Given the description of an element on the screen output the (x, y) to click on. 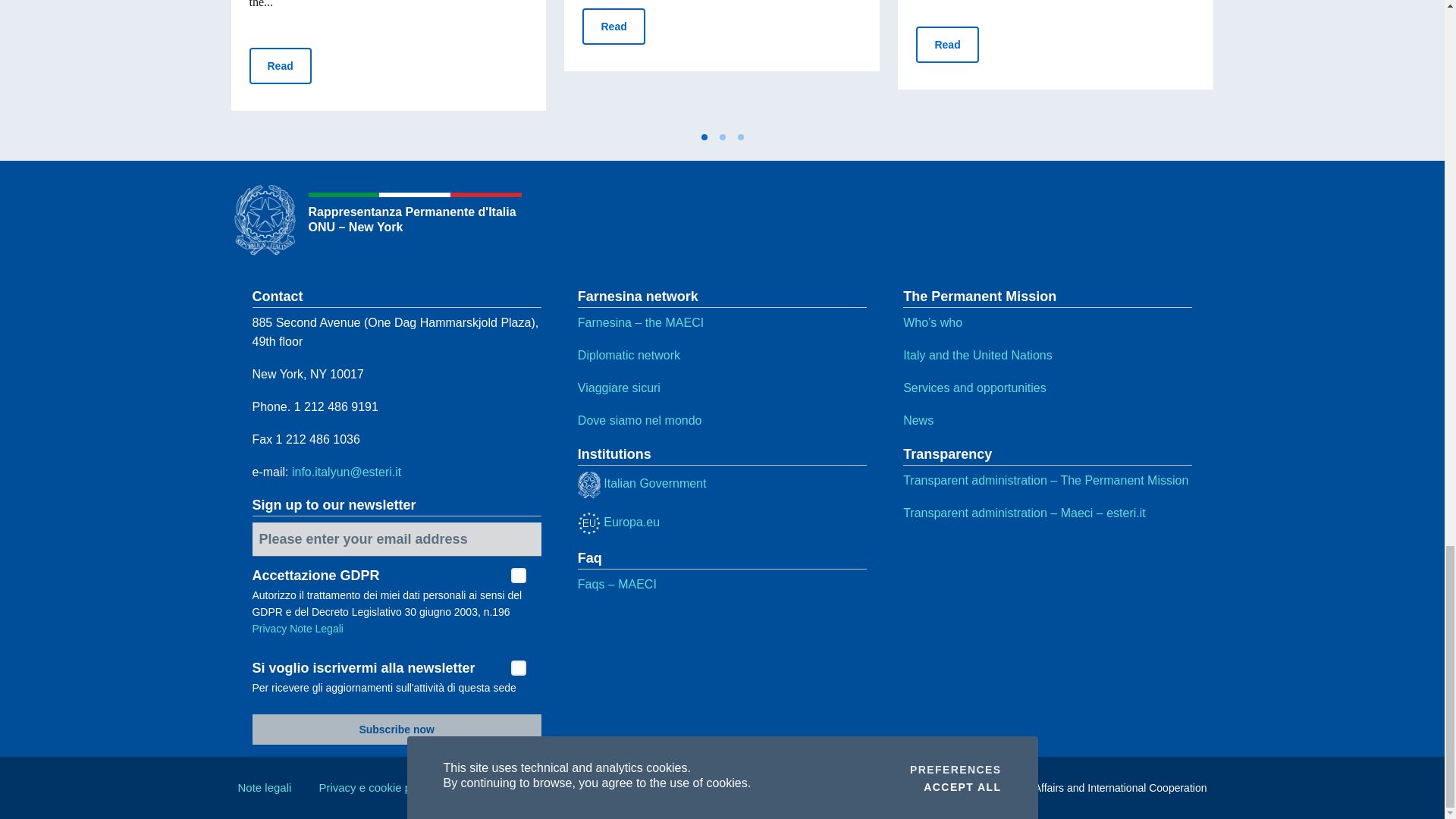
Subscribe now (395, 729)
